Given the description of an element on the screen output the (x, y) to click on. 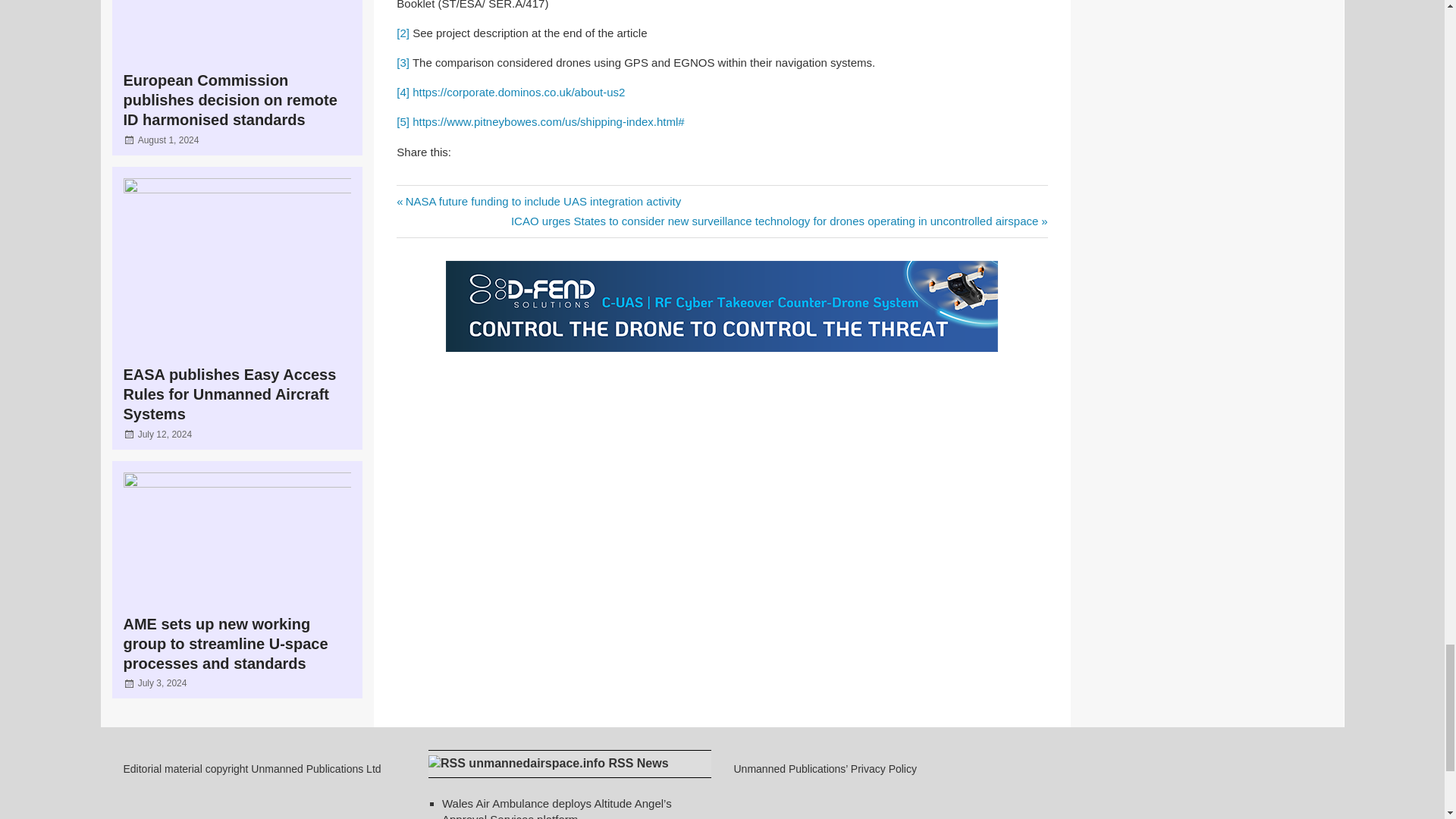
8:22 am (165, 434)
6:58 pm (162, 683)
3:01 pm (168, 140)
